Given the description of an element on the screen output the (x, y) to click on. 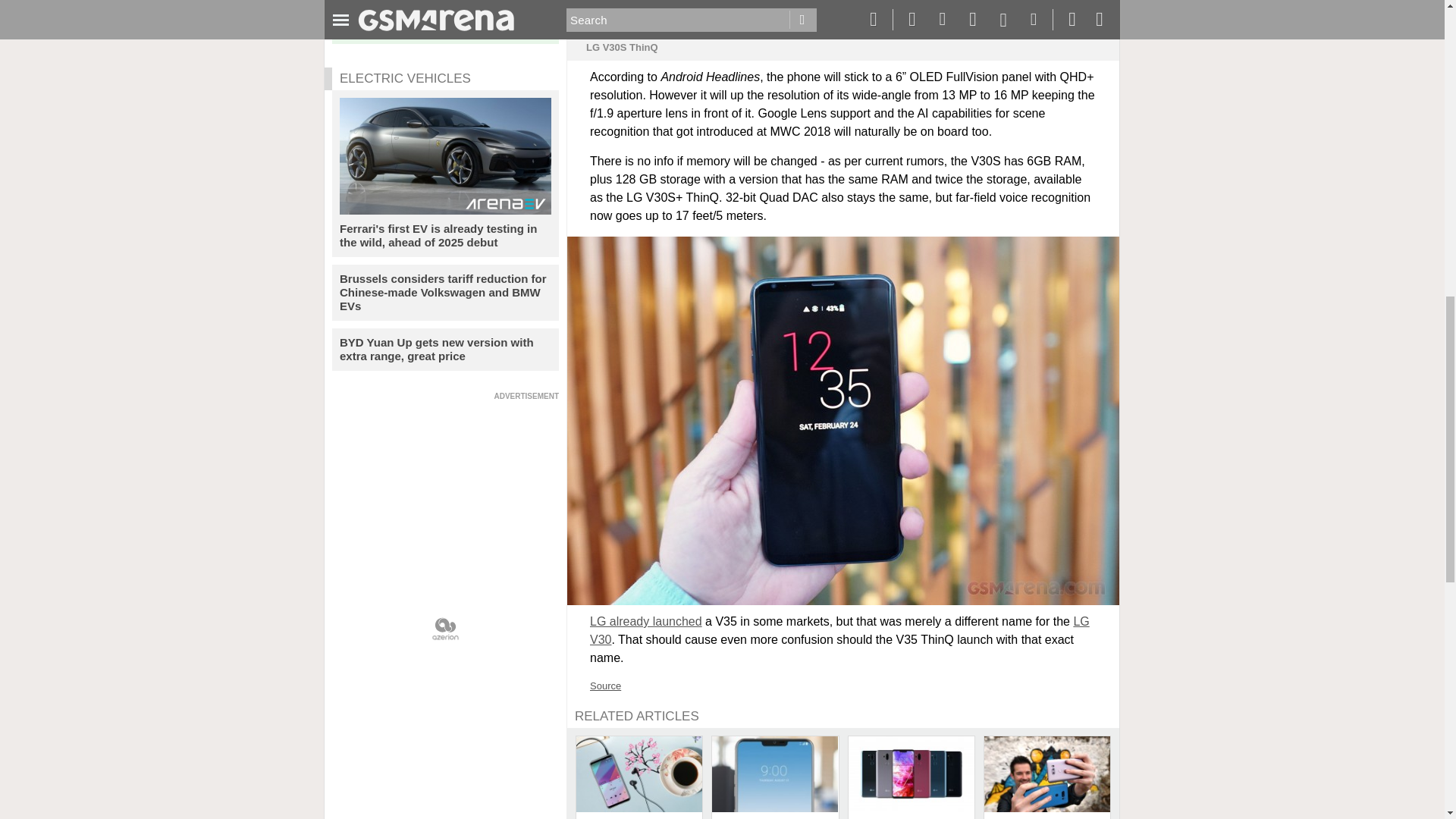
Source (605, 685)
LG V30 (839, 630)
LG already launched (645, 621)
